Given the description of an element on the screen output the (x, y) to click on. 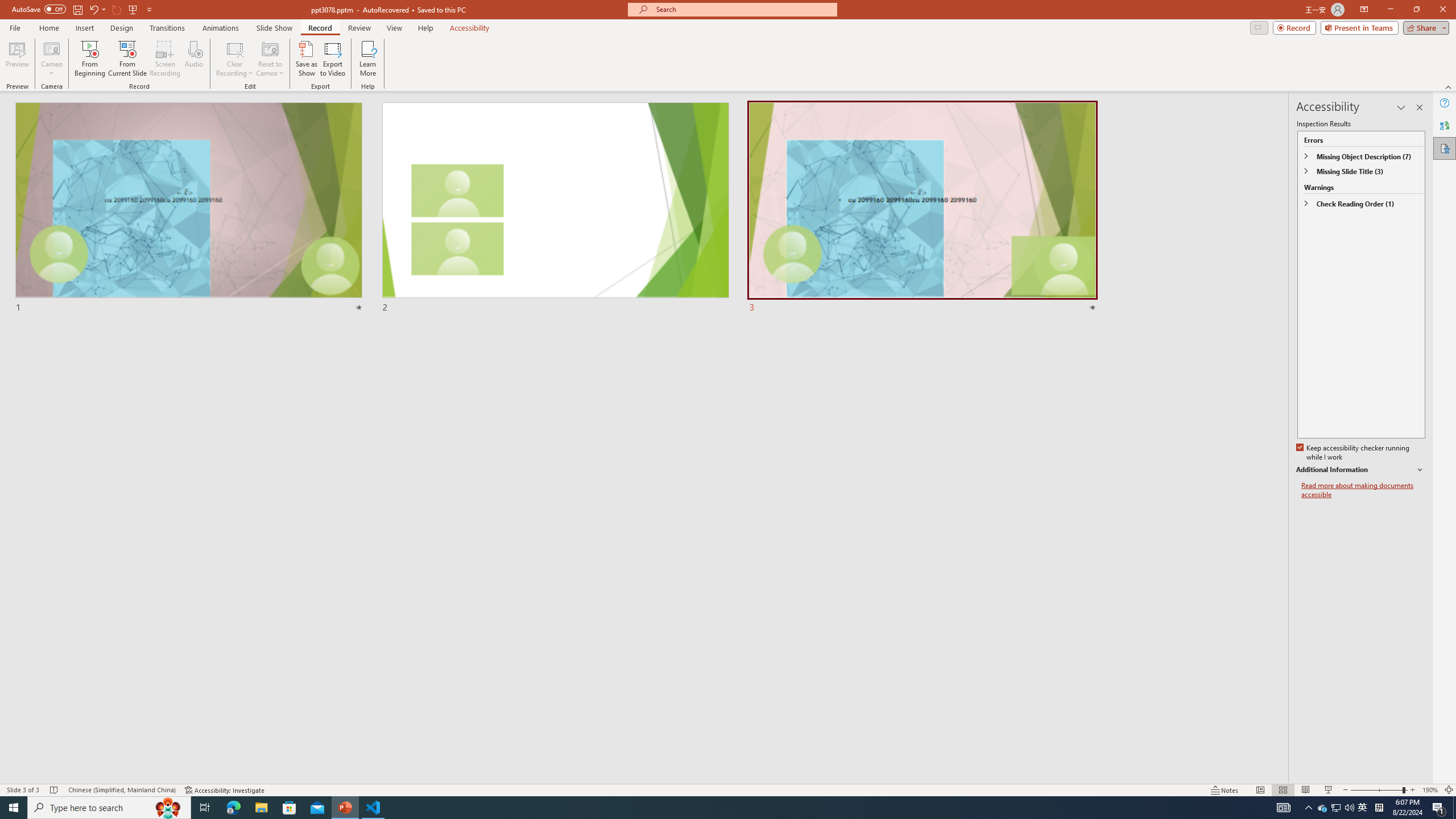
Learn More (368, 58)
From Current Slide... (127, 58)
Save as Show (306, 58)
Screen Recording (165, 58)
